Given the description of an element on the screen output the (x, y) to click on. 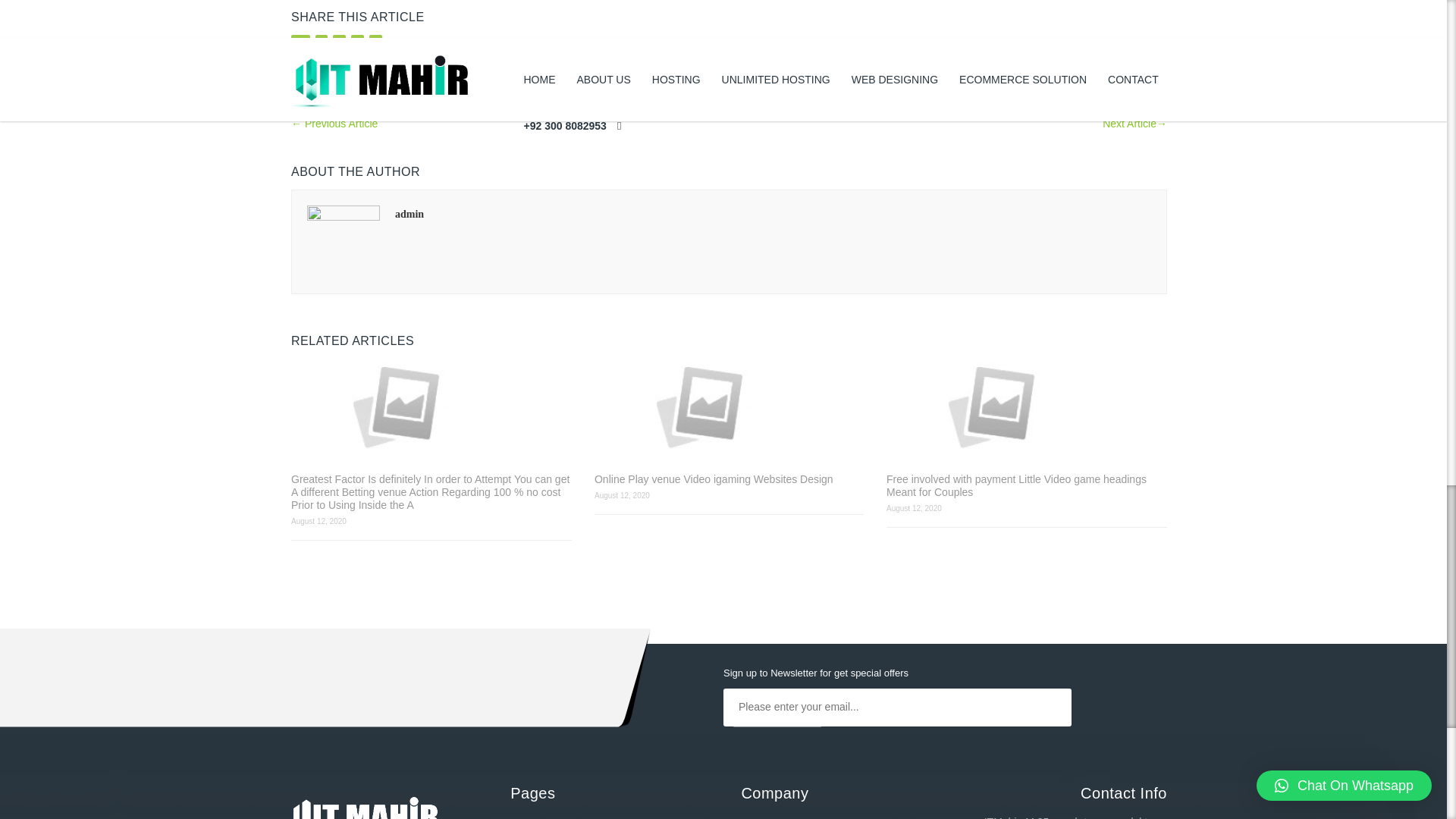
Online Play venue Video igaming Websites Design (728, 479)
admin (408, 214)
Sign Up (777, 745)
Permalink to Online Play venue Video igaming Websites Design (728, 479)
Permalink to Online Play venue Video igaming Websites Design (728, 406)
